Given the description of an element on the screen output the (x, y) to click on. 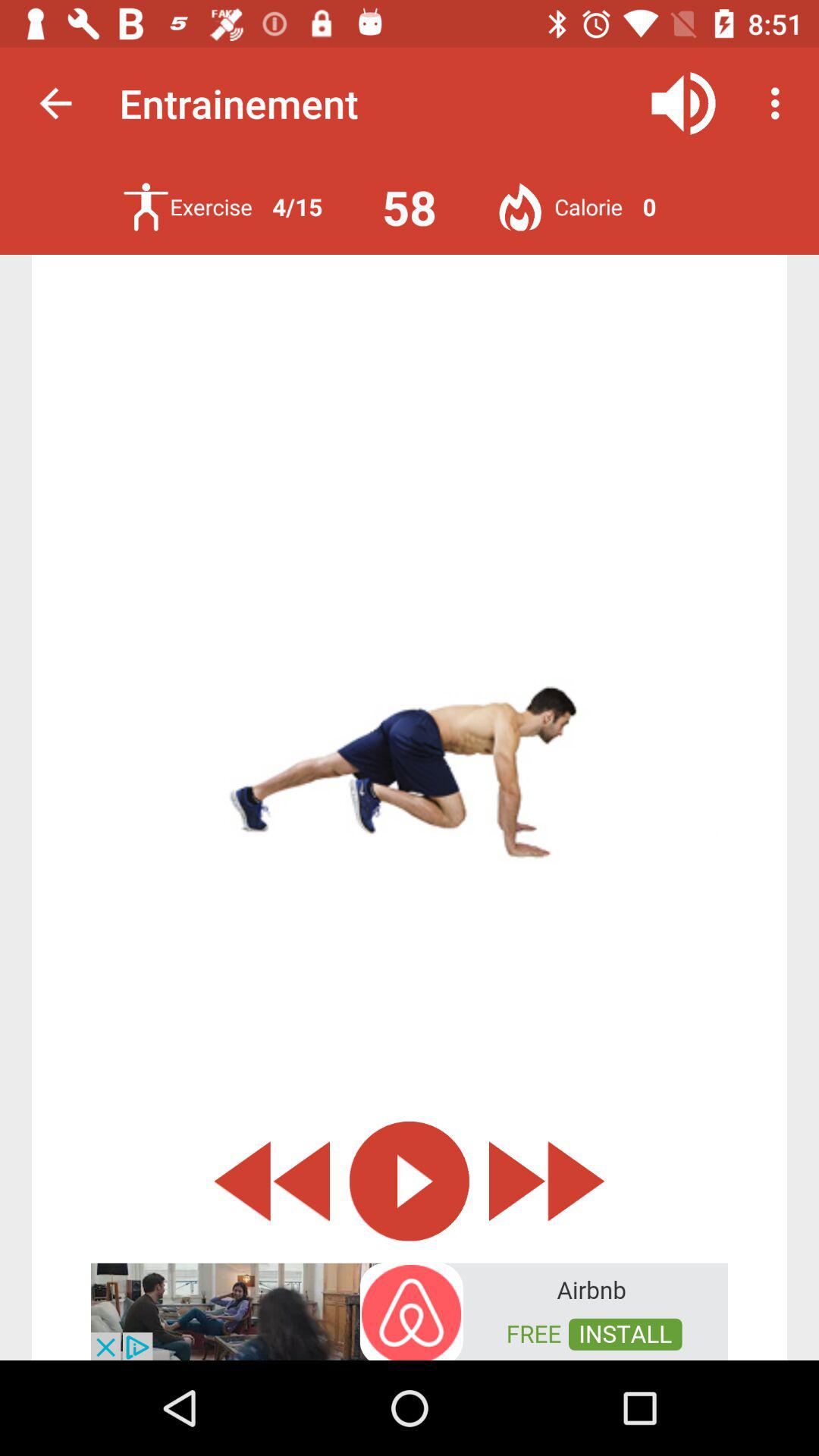
install airbnb (409, 1310)
